Given the description of an element on the screen output the (x, y) to click on. 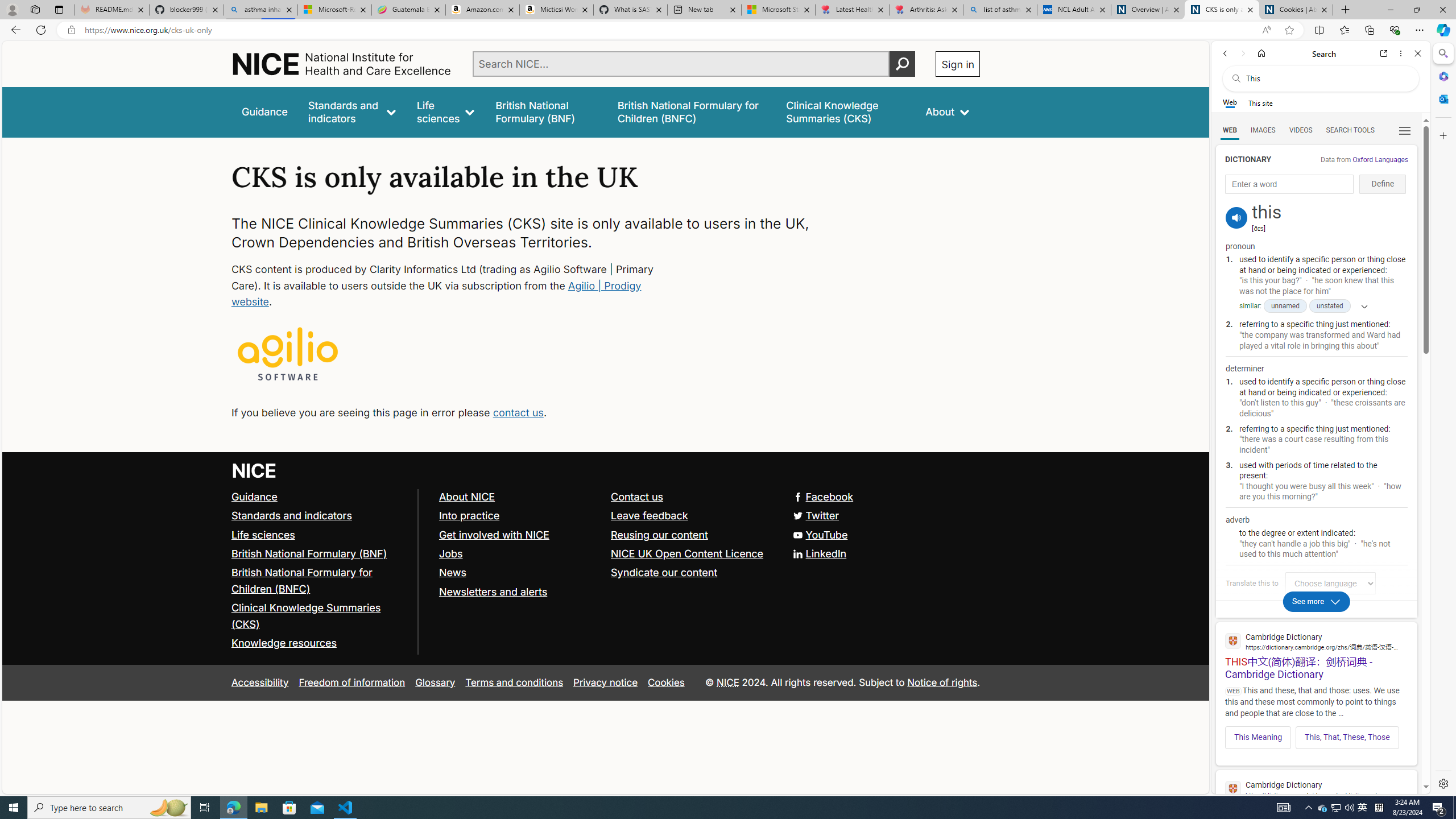
asthma inhaler - Search (260, 9)
YouTube (820, 534)
Into practice (468, 515)
Oxford Languages (1379, 159)
NICE UK Open Content Licence (692, 553)
Notice of rights (941, 681)
Syndicate our content (664, 571)
